Given the description of an element on the screen output the (x, y) to click on. 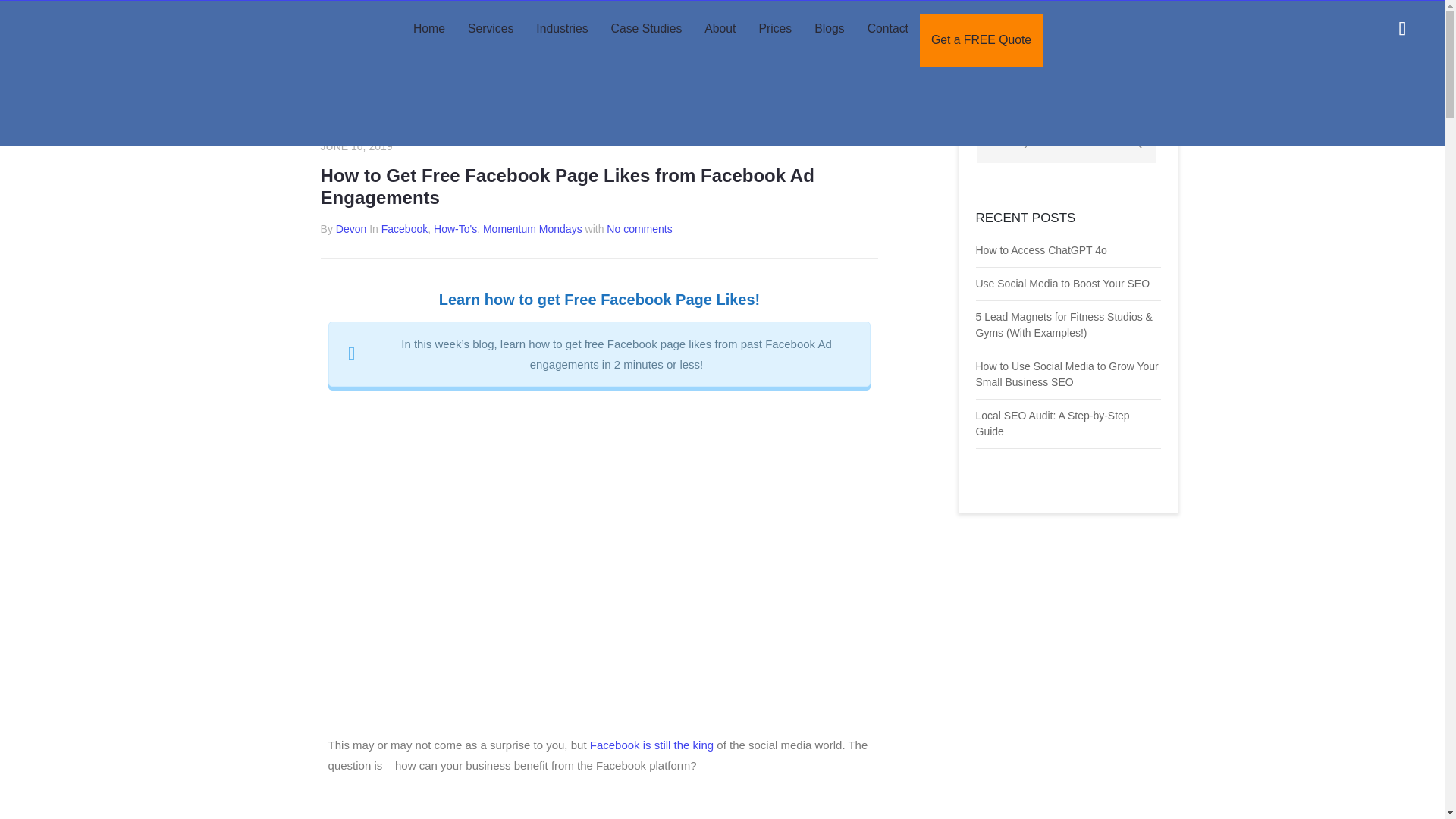
Momentum Digital Marketing Agency in Philadelphia (106, 73)
Submit (115, 20)
Home (429, 28)
Services (490, 28)
